Given the description of an element on the screen output the (x, y) to click on. 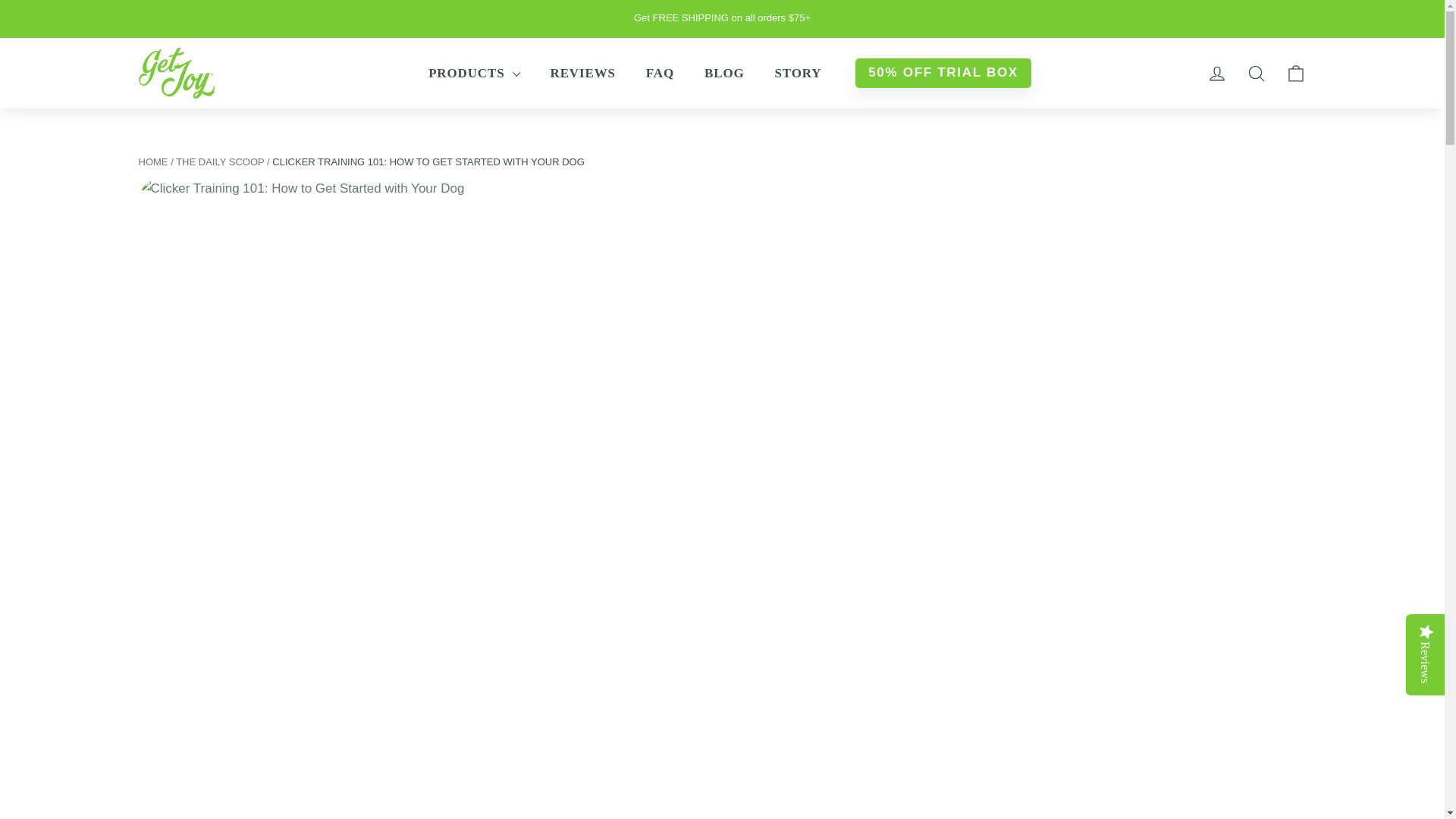
Back to the frontpage (152, 161)
PRODUCTS (473, 73)
REVIEWS (582, 73)
FAQ (659, 73)
